Given the description of an element on the screen output the (x, y) to click on. 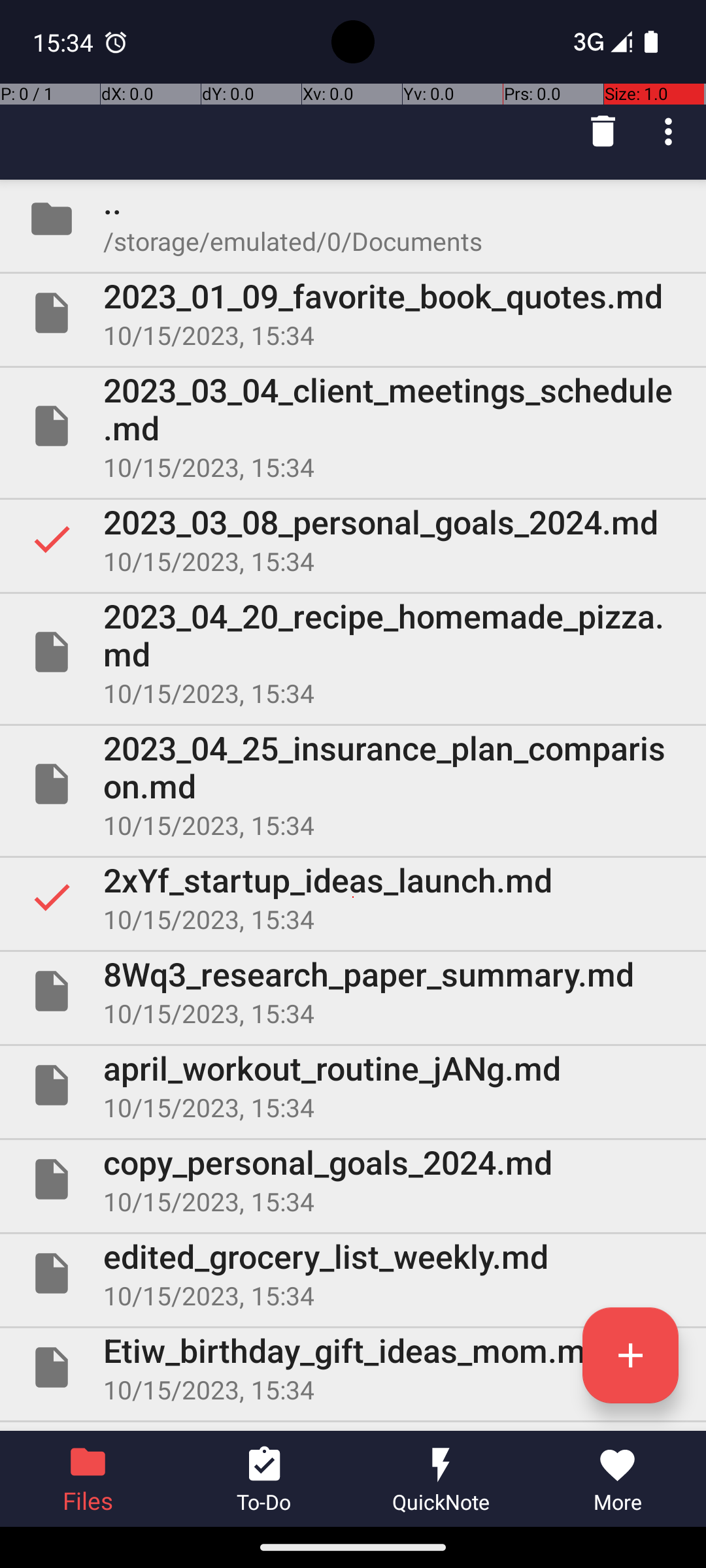
File 2023_01_09_favorite_book_quotes.md  Element type: android.widget.LinearLayout (353, 312)
File 2023_03_04_client_meetings_schedule.md  Element type: android.widget.LinearLayout (353, 425)
Selected 2023_03_08_personal_goals_2024.md  Element type: android.widget.LinearLayout (353, 538)
File 2023_04_20_recipe_homemade_pizza.md  Element type: android.widget.LinearLayout (353, 651)
File 2023_04_25_insurance_plan_comparison.md  Element type: android.widget.LinearLayout (353, 783)
Selected 2xYf_startup_ideas_launch.md 10/15/2023, 15:34 Element type: android.widget.LinearLayout (353, 896)
File 8Wq3_research_paper_summary.md  Element type: android.widget.LinearLayout (353, 990)
File april_workout_routine_jANg.md  Element type: android.widget.LinearLayout (353, 1084)
File copy_personal_goals_2024.md  Element type: android.widget.LinearLayout (353, 1179)
File edited_grocery_list_weekly.md  Element type: android.widget.LinearLayout (353, 1273)
File Etiw_birthday_gift_ideas_mom.md  Element type: android.widget.LinearLayout (353, 1367)
File J7k3_research_paper_summary.md  Element type: android.widget.LinearLayout (353, 1426)
